Given the description of an element on the screen output the (x, y) to click on. 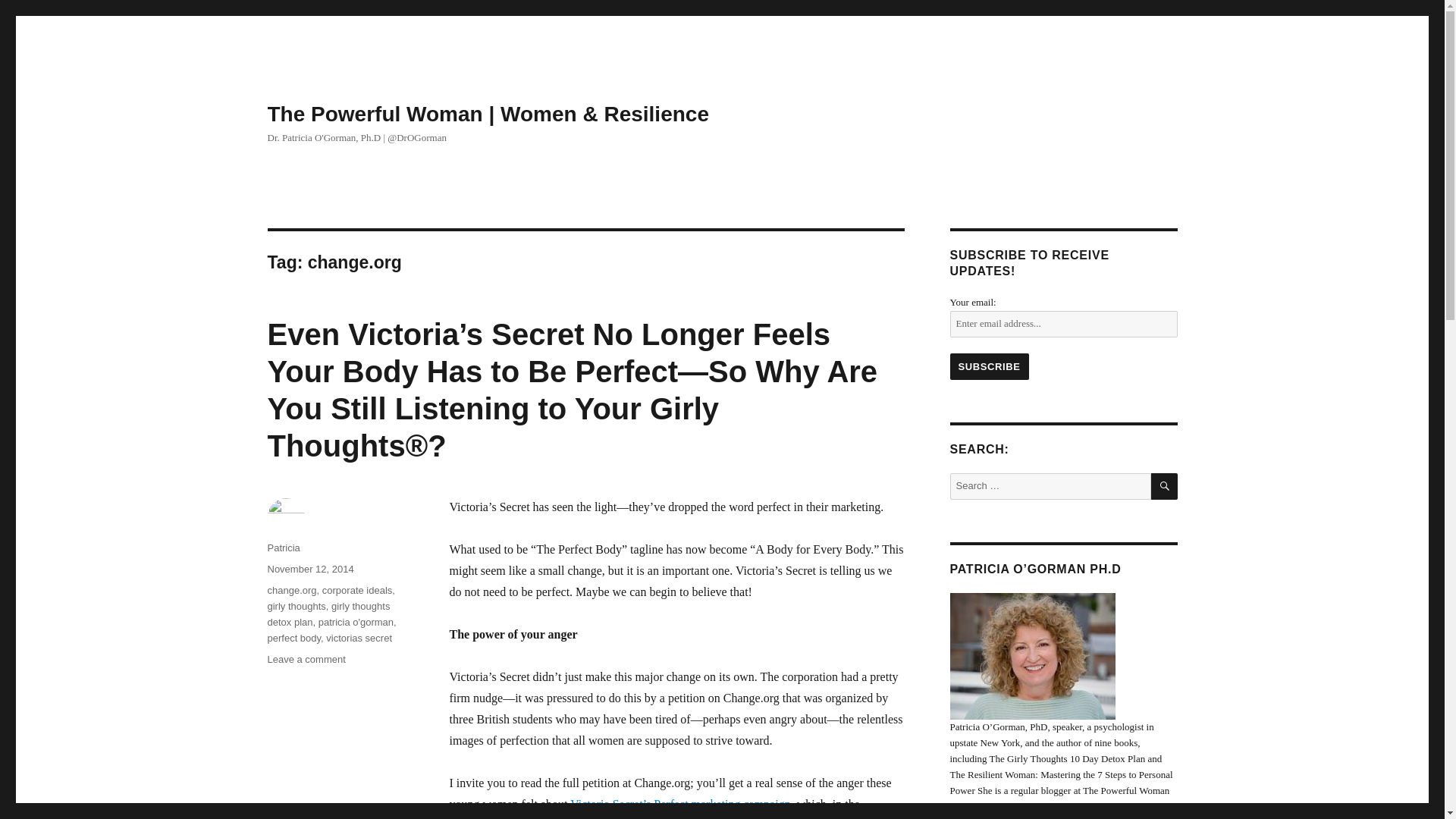
Patricia (282, 547)
www.patriciaogorman.com (1003, 817)
change.org (290, 590)
girly thoughts (295, 605)
November 12, 2014 (309, 568)
Subscribe (988, 366)
corporate ideals (357, 590)
perfect body (293, 637)
Subscribe (988, 366)
girly thoughts detox plan (328, 614)
patricia o'gorman (355, 622)
Enter email address... (1062, 324)
SEARCH (1164, 486)
victorias secret (358, 637)
